Given the description of an element on the screen output the (x, y) to click on. 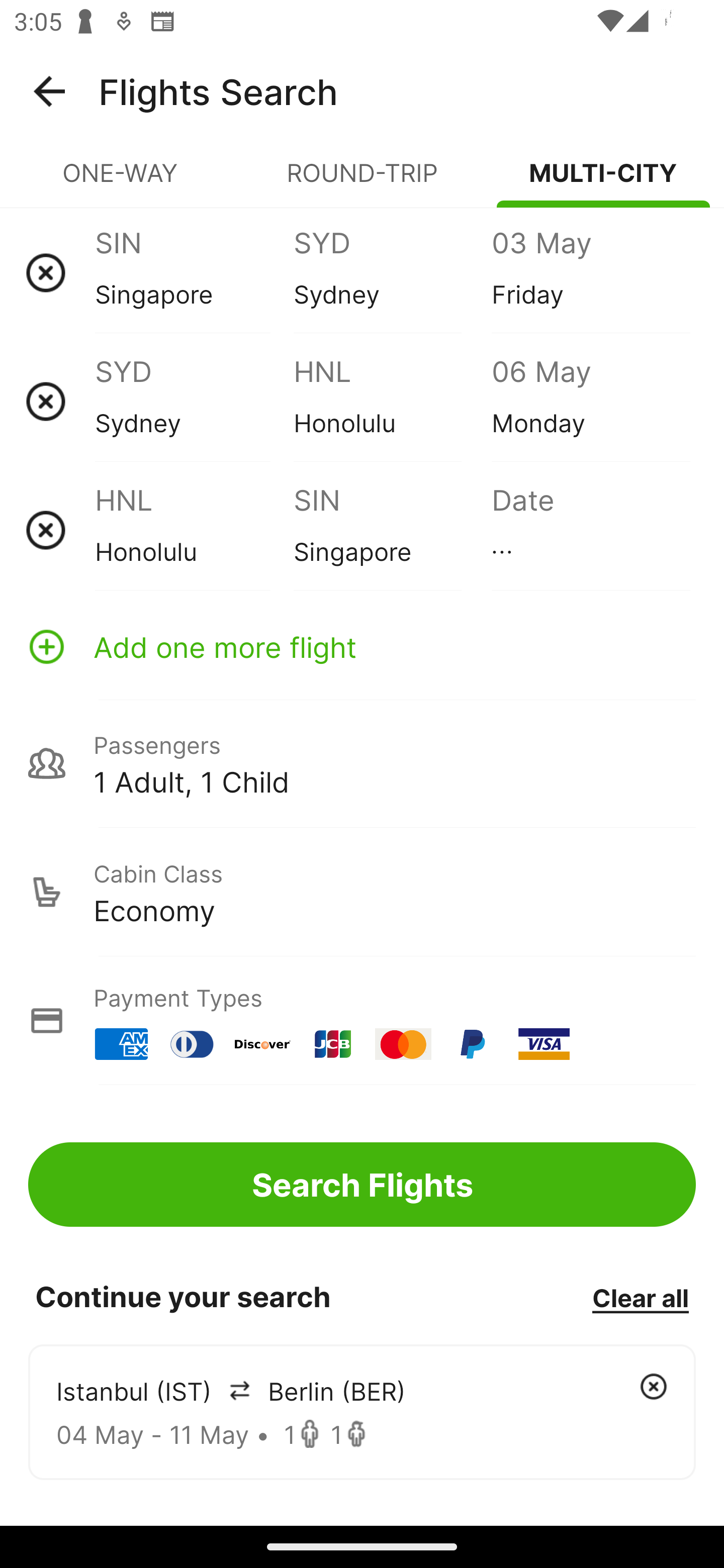
ONE-WAY (120, 180)
ROUND-TRIP (361, 180)
MULTI-CITY (603, 180)
SIN Singapore (193, 272)
SYD Sydney (392, 272)
03 May Friday (590, 272)
SYD Sydney (193, 401)
HNL Honolulu (392, 401)
06 May Monday (590, 401)
HNL Honolulu (193, 529)
SIN Singapore (392, 529)
Date ⋯ (590, 529)
Add one more flight (362, 646)
Passengers 1 Adult, 1 Child (362, 762)
Cabin Class Economy (362, 891)
Payment Types (362, 1020)
Search Flights (361, 1184)
Clear all (640, 1297)
